Given the description of an element on the screen output the (x, y) to click on. 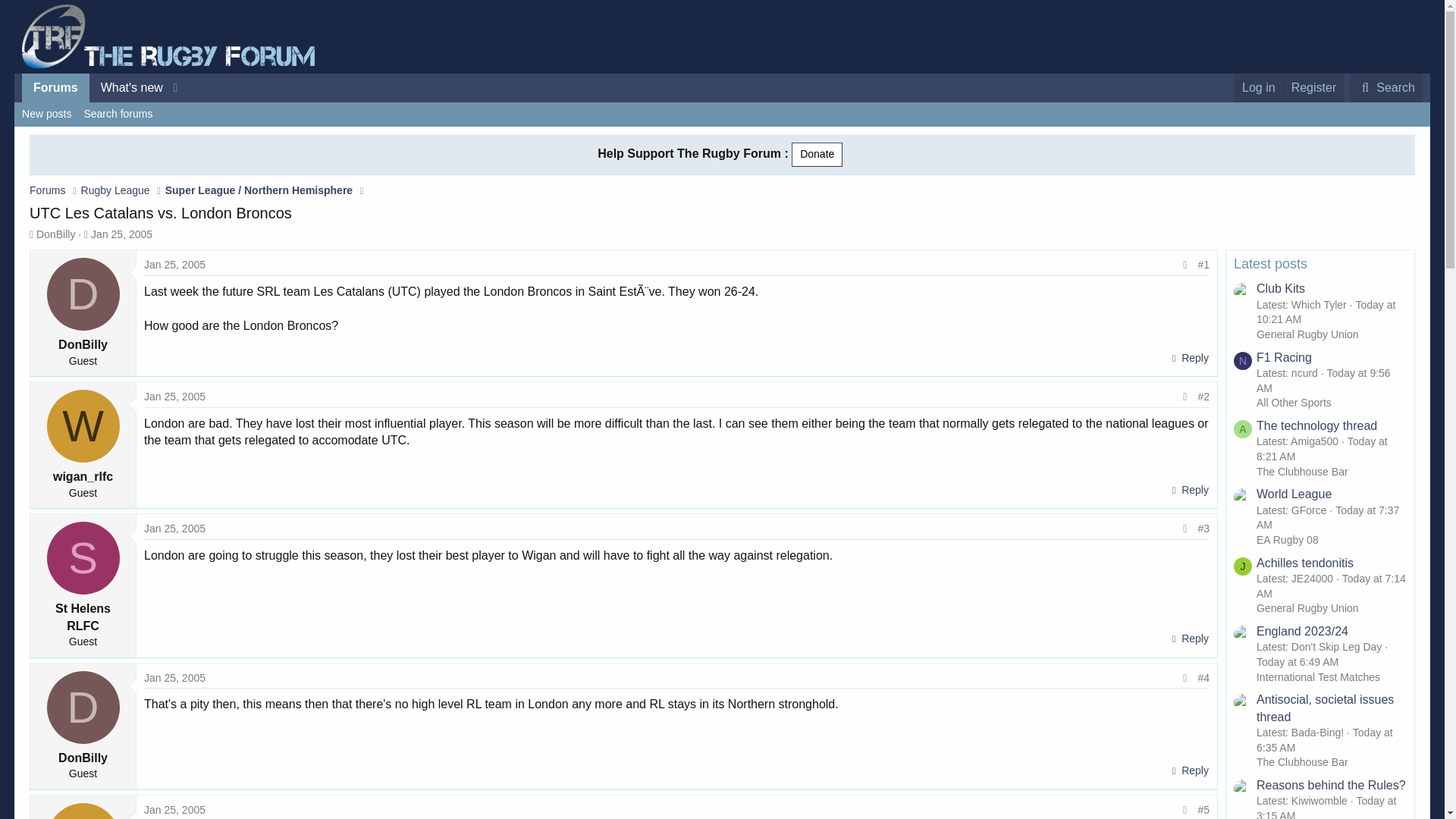
DonBilly (82, 706)
Search (1385, 87)
Reply (1188, 358)
Jan 25, 2005 (174, 264)
Search forums (117, 114)
Reply (1188, 490)
Rugby League (115, 190)
Log in (1258, 87)
Jan 25, 2005 at 9:27 AM (103, 87)
